Given the description of an element on the screen output the (x, y) to click on. 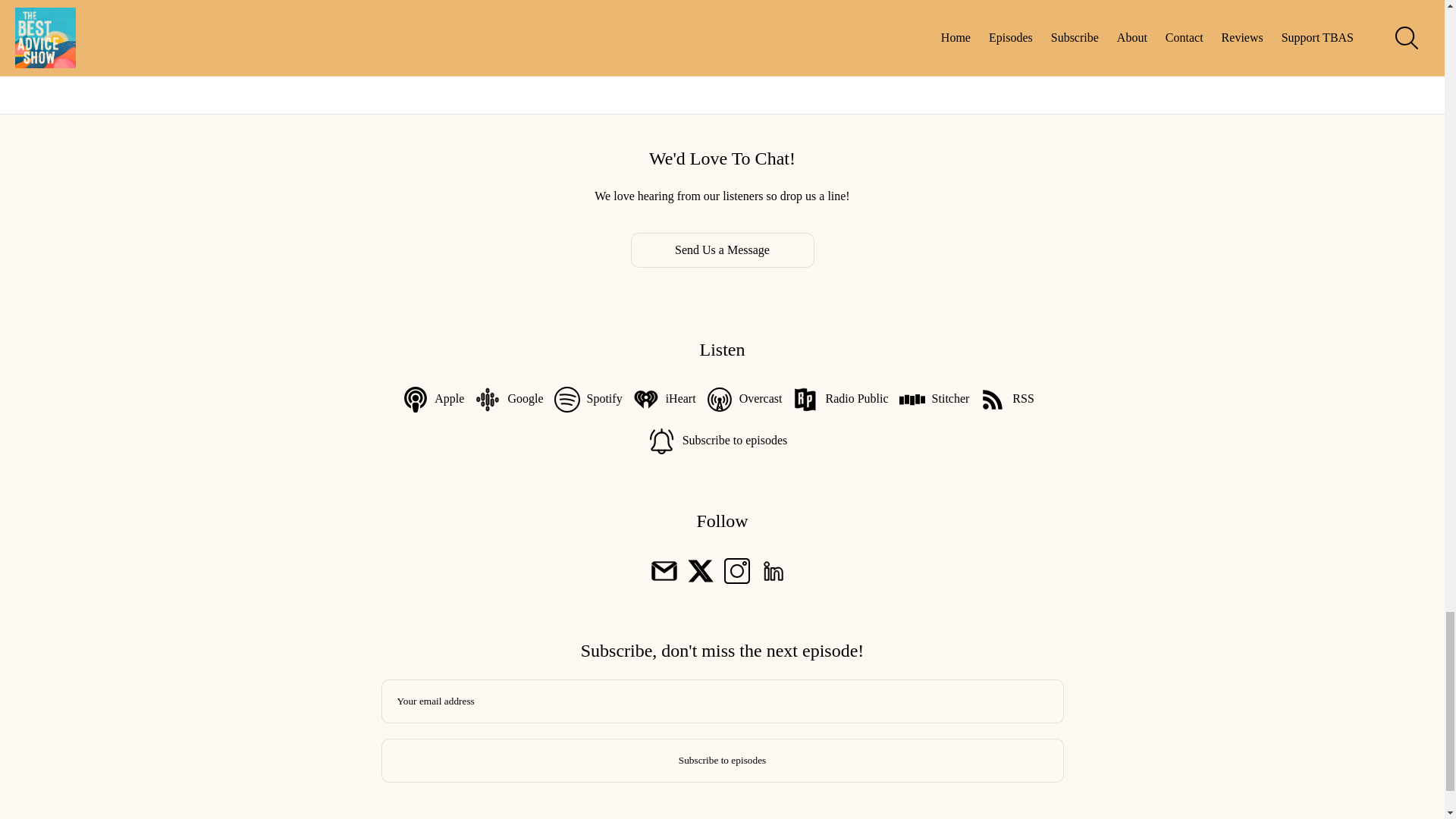
51 (779, 52)
3 (664, 52)
53 (860, 52)
52 (820, 52)
2 (623, 52)
4 (705, 52)
Subscribe to episodes (721, 760)
1 (581, 52)
LinkedIn (773, 569)
Instagram (736, 569)
